Given the description of an element on the screen output the (x, y) to click on. 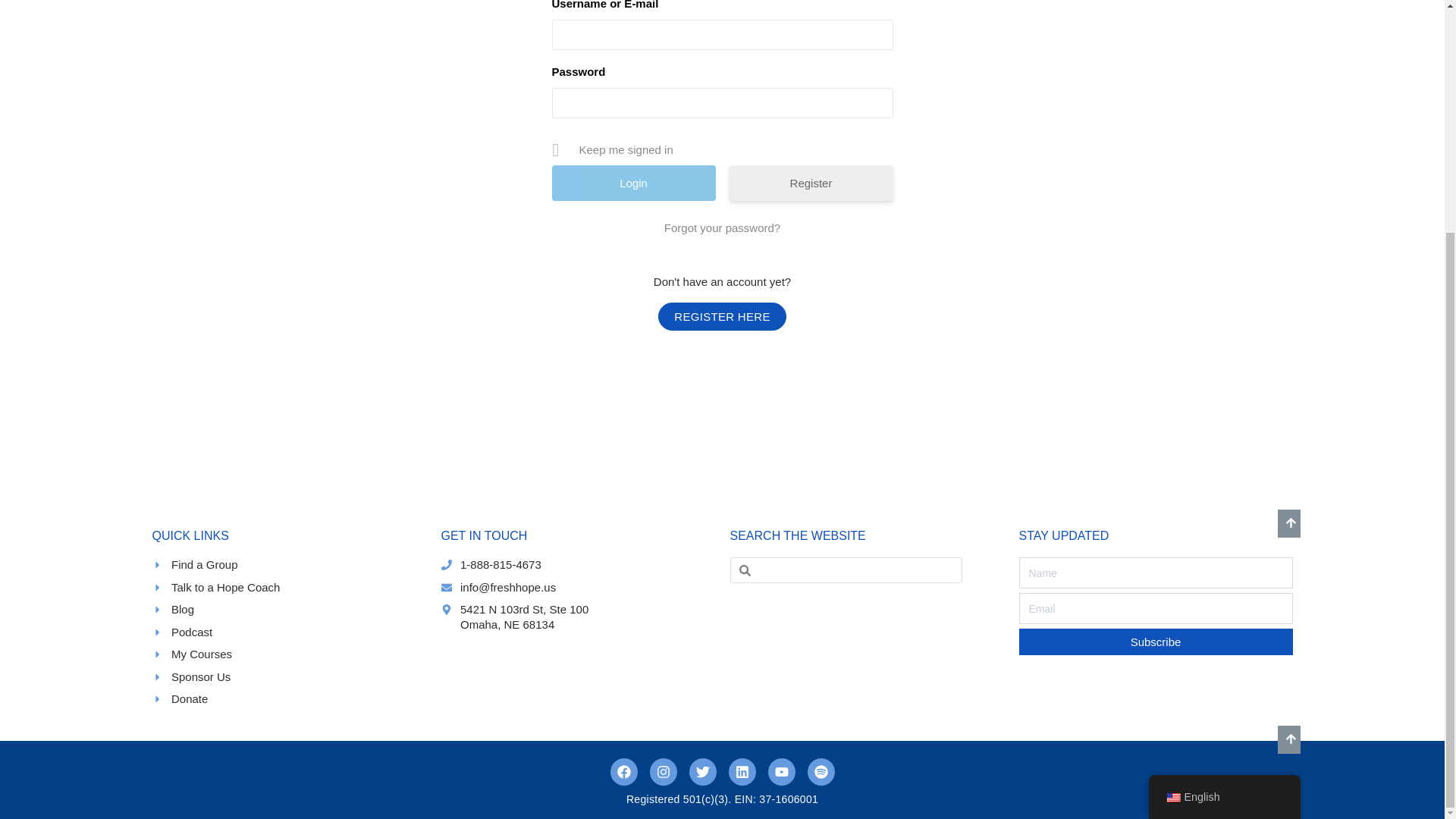
Login (633, 182)
English (1172, 481)
